Given the description of an element on the screen output the (x, y) to click on. 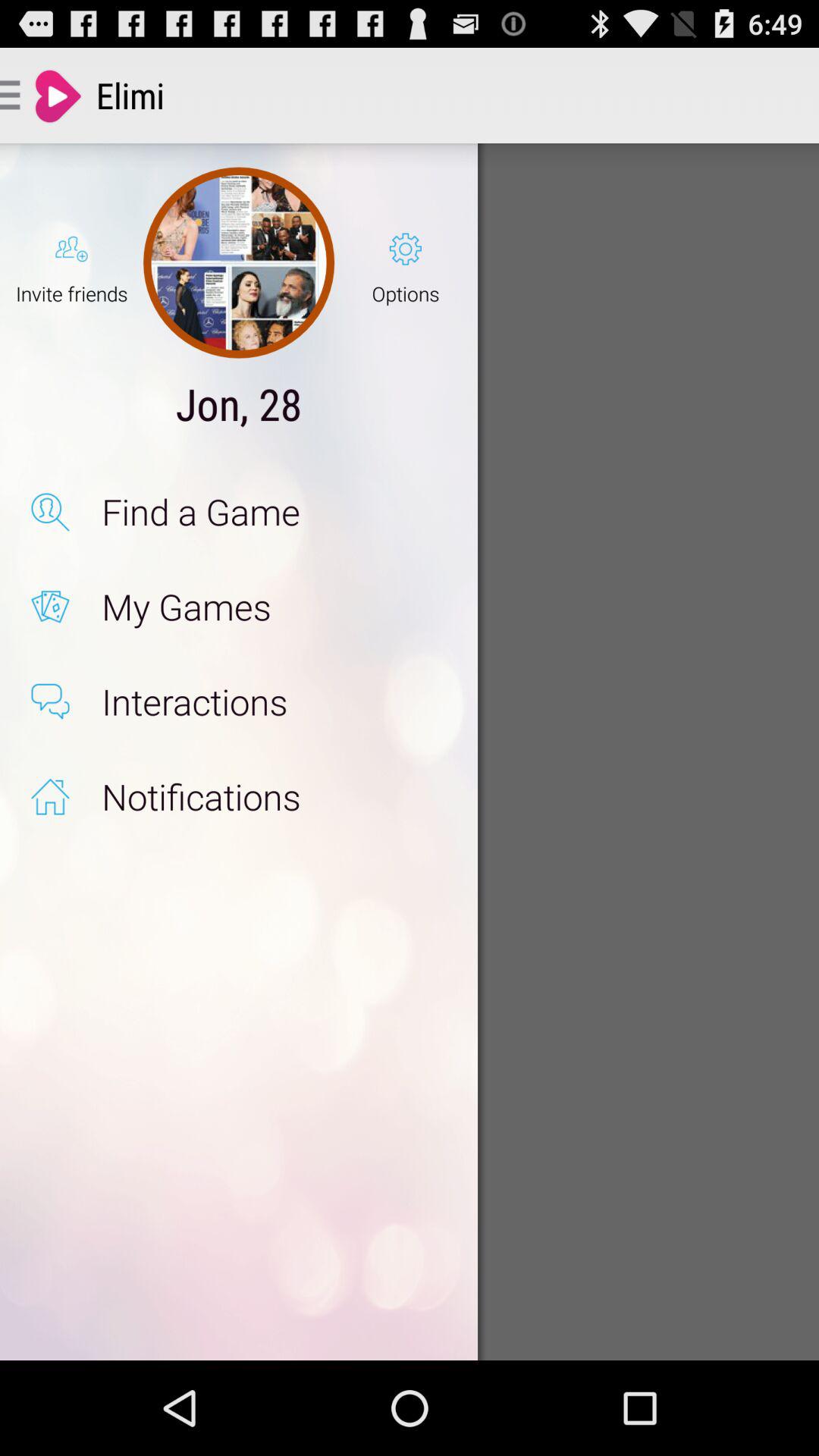
choose the item to the left of the options (238, 262)
